Given the description of an element on the screen output the (x, y) to click on. 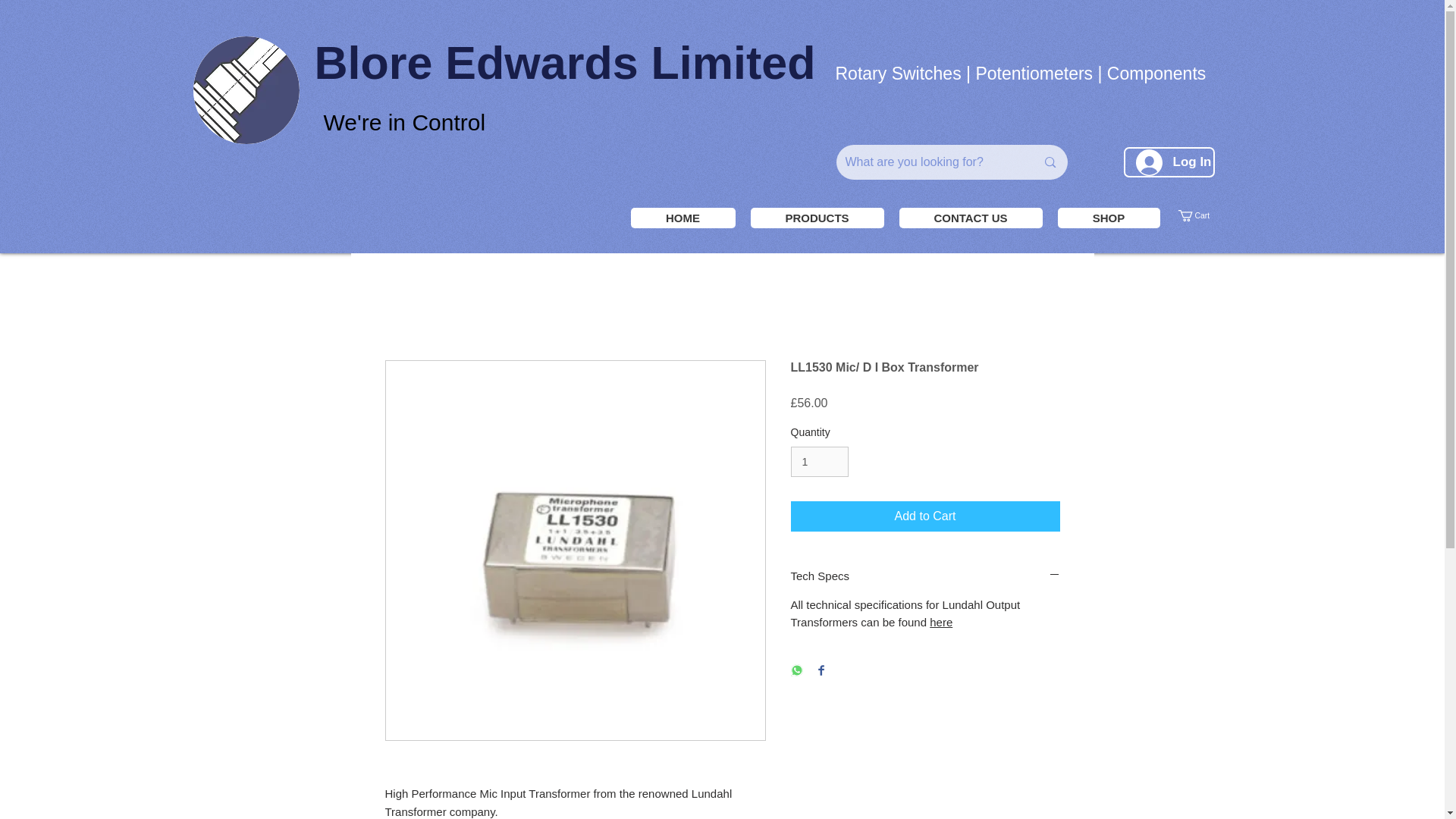
CONTACT US (970, 218)
Tech Specs (924, 575)
here (941, 621)
Log In (1168, 161)
PRODUCTS (817, 218)
Add to Cart (924, 516)
Cart (1199, 215)
SHOP (1107, 218)
Cart (1199, 215)
1 (818, 461)
